Given the description of an element on the screen output the (x, y) to click on. 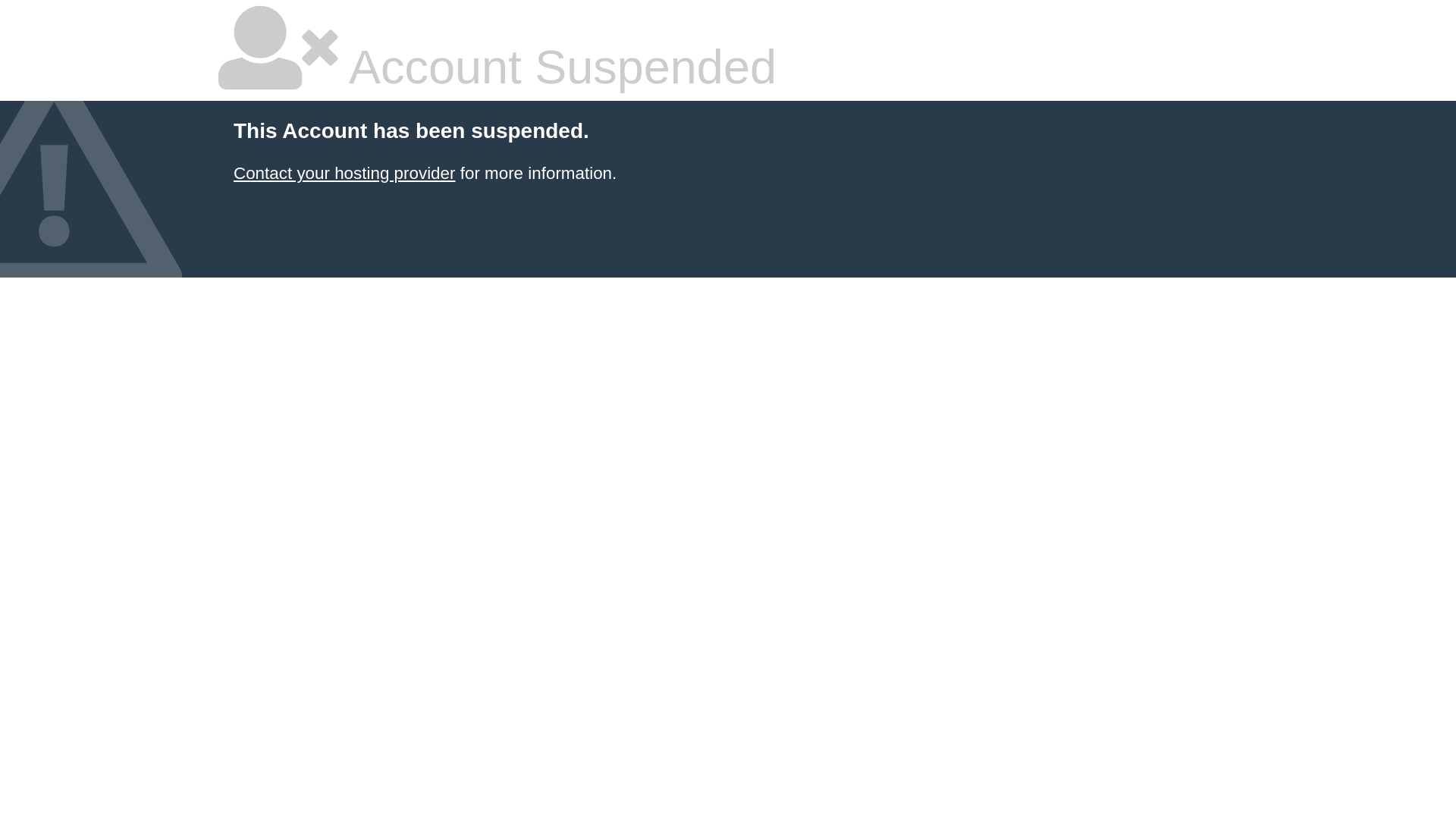
Contact your hosting provider Element type: text (344, 172)
